Given the description of an element on the screen output the (x, y) to click on. 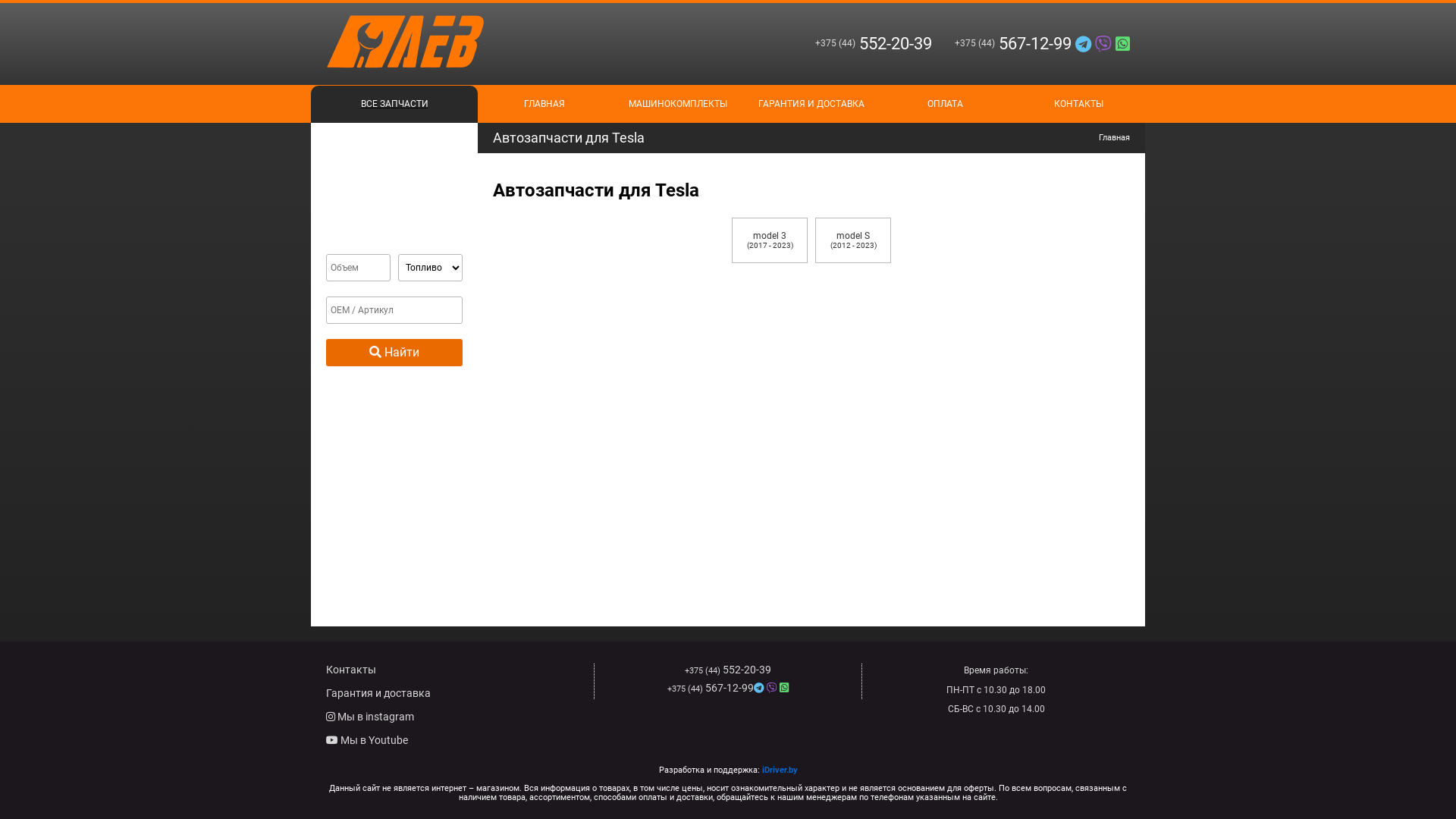
+375 (44) 567-12-99 Element type: text (727, 687)
model S
(2012 - 2023) Element type: text (853, 240)
+375 (44)
552-20-39 Element type: text (861, 43)
iDriver.by Element type: text (779, 770)
model 3
(2017 - 2023) Element type: text (769, 240)
+375 (44)
567-12-99 Element type: text (1030, 43)
+375 (44) 552-20-39 Element type: text (727, 669)
